Given the description of an element on the screen output the (x, y) to click on. 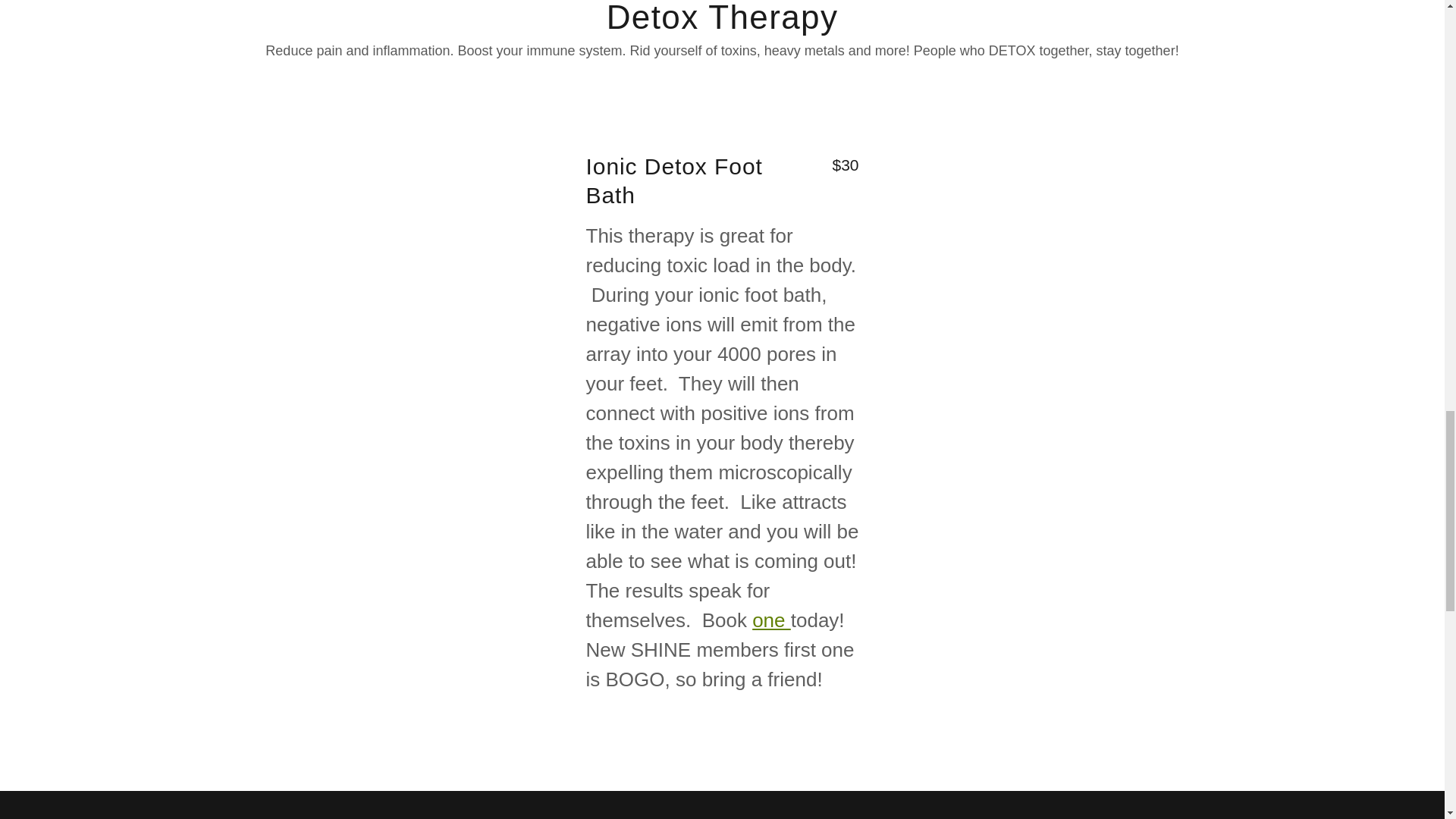
one (771, 620)
